Given the description of an element on the screen output the (x, y) to click on. 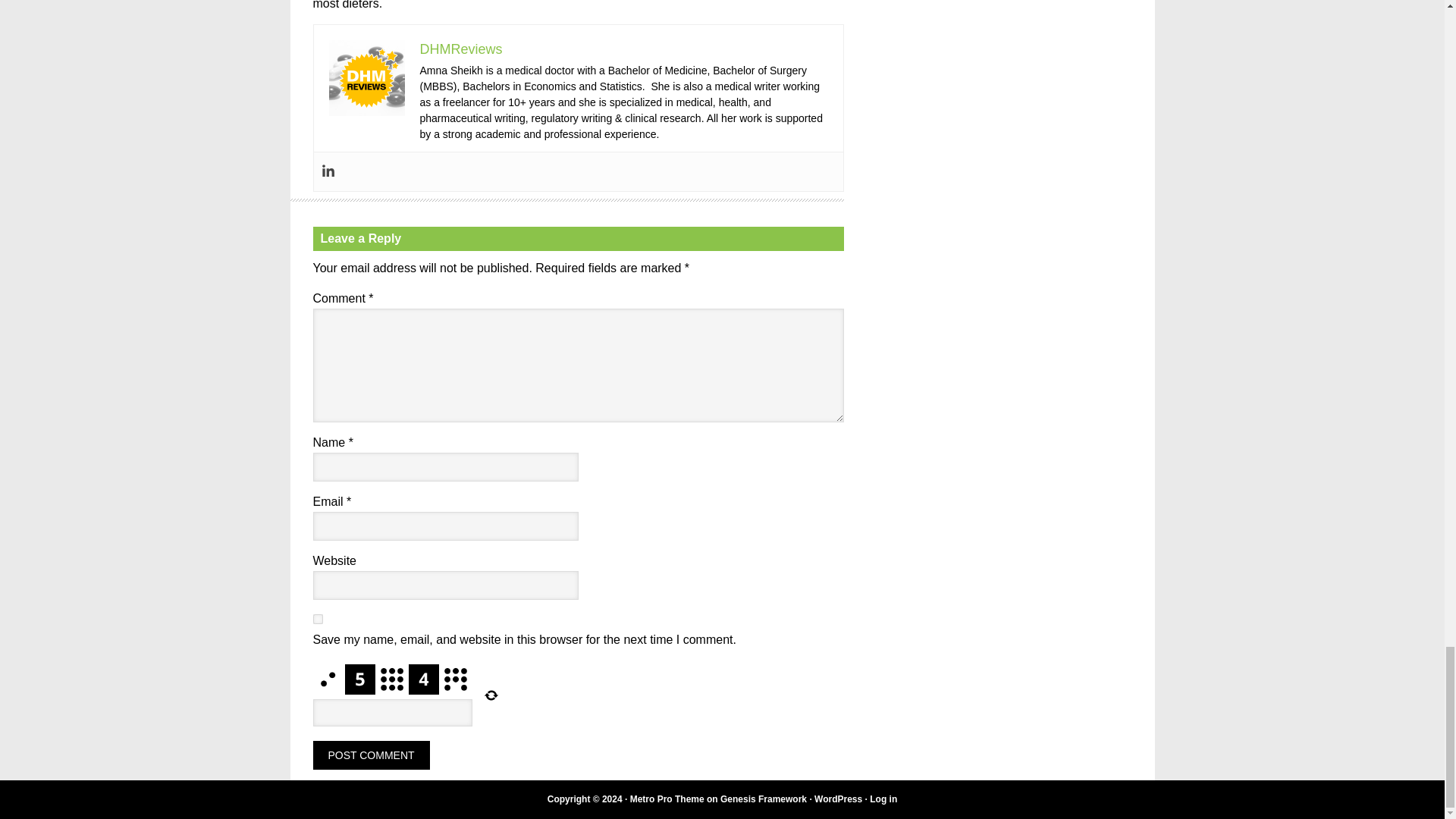
WordPress (837, 798)
Post Comment (371, 755)
yes (317, 619)
Log in (882, 798)
Post Comment (371, 755)
Genesis Framework (763, 798)
DHMReviews (461, 48)
Metro Pro Theme (667, 798)
